Given the description of an element on the screen output the (x, y) to click on. 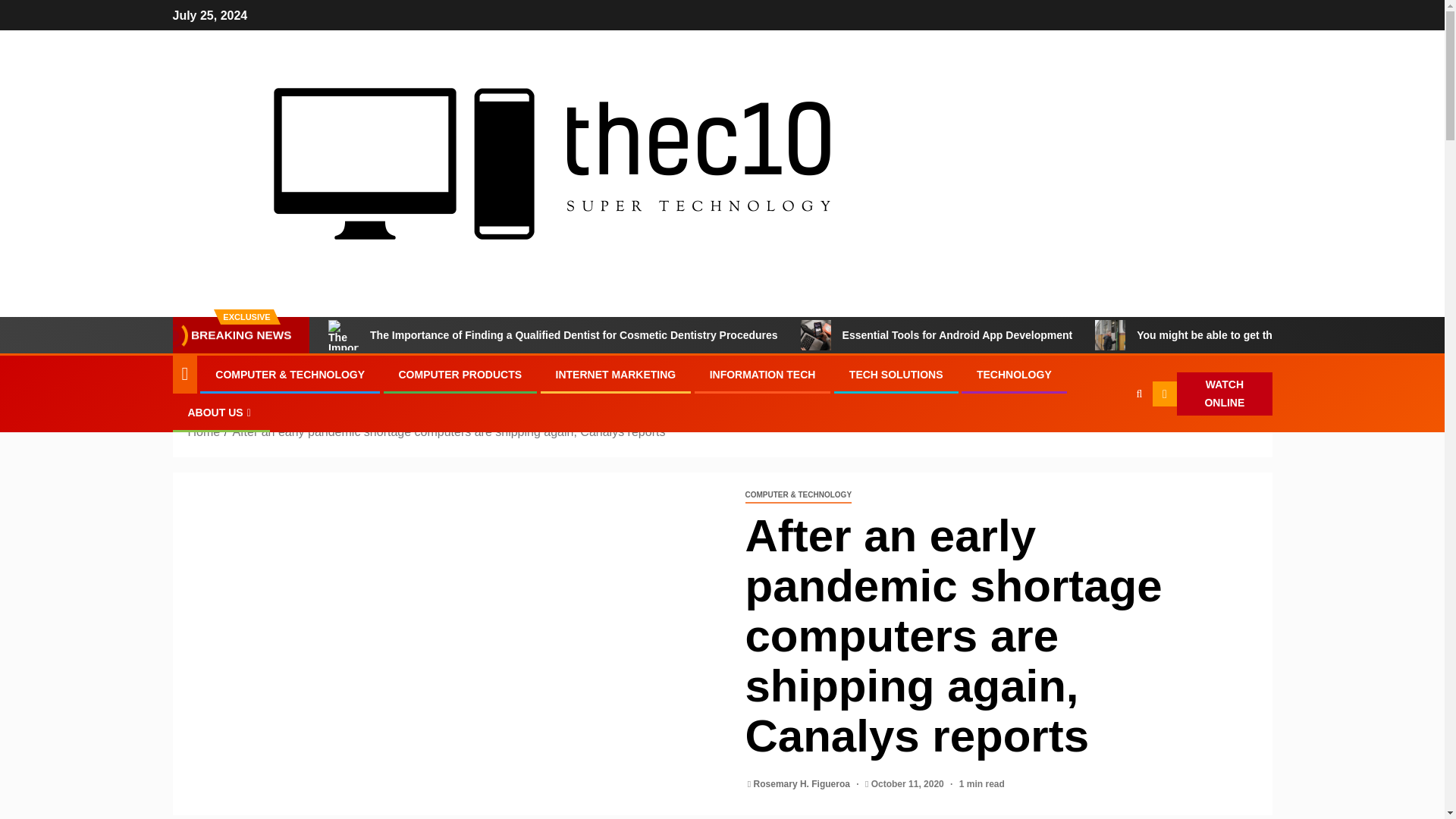
Essential Tools for Android App Development (815, 335)
TECHNOLOGY (1013, 374)
COMPUTER PRODUCTS (460, 374)
ABOUT US (220, 412)
Home (204, 431)
INFORMATION TECH (762, 374)
WATCH ONLINE (1212, 394)
INTERNET MARKETING (616, 374)
TECH SOLUTIONS (895, 374)
Search (1109, 440)
Rosemary H. Figueroa (803, 783)
Essential Tools for Android App Development (936, 335)
